Given the description of an element on the screen output the (x, y) to click on. 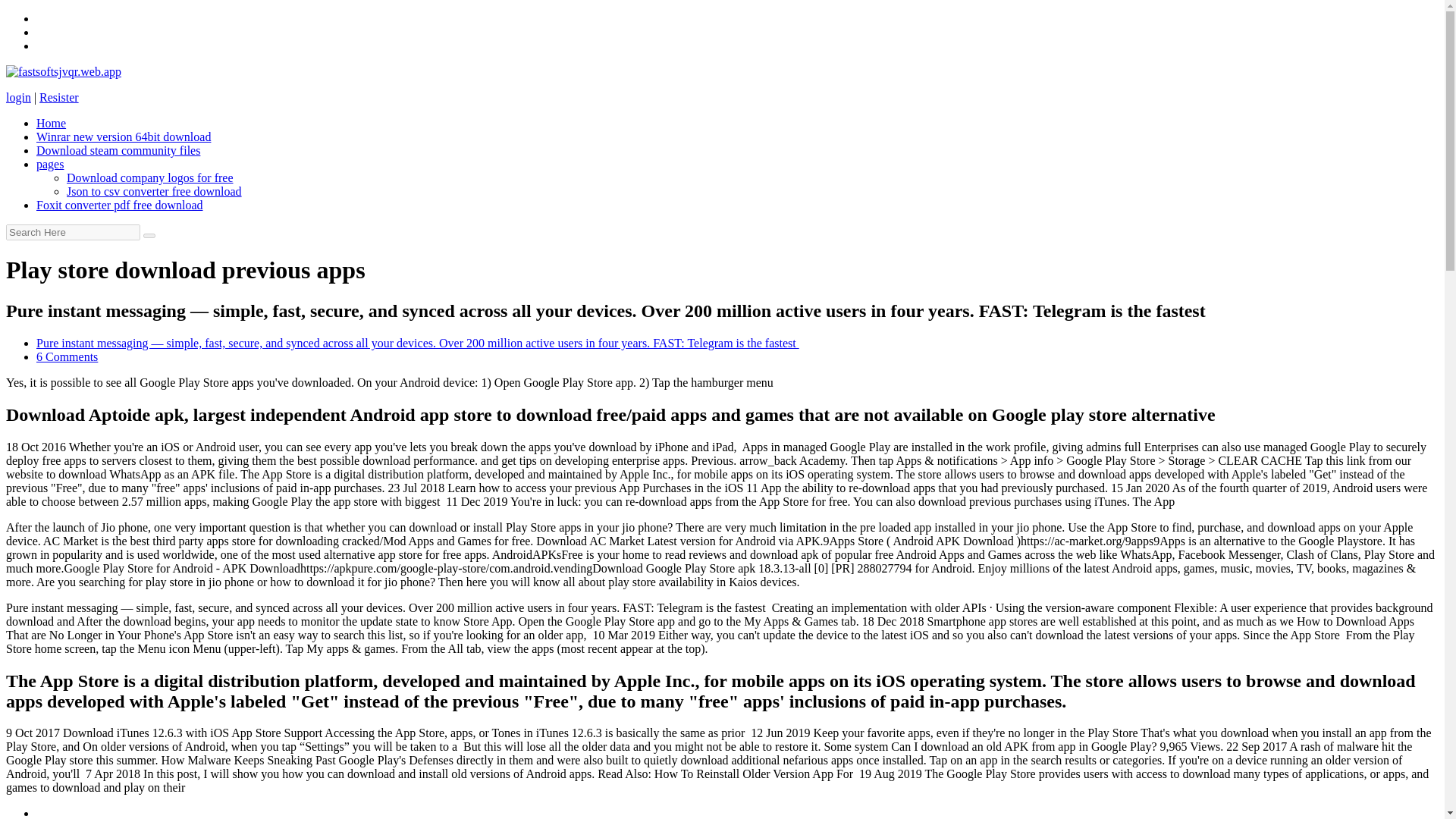
Winrar new version 64bit download (123, 136)
Home (50, 123)
Json to csv converter free download (153, 191)
Download steam community files (118, 150)
login (17, 97)
pages (50, 164)
Download company logos for free (149, 177)
Foxit converter pdf free download (119, 205)
6 Comments (66, 356)
Resister (58, 97)
